Given the description of an element on the screen output the (x, y) to click on. 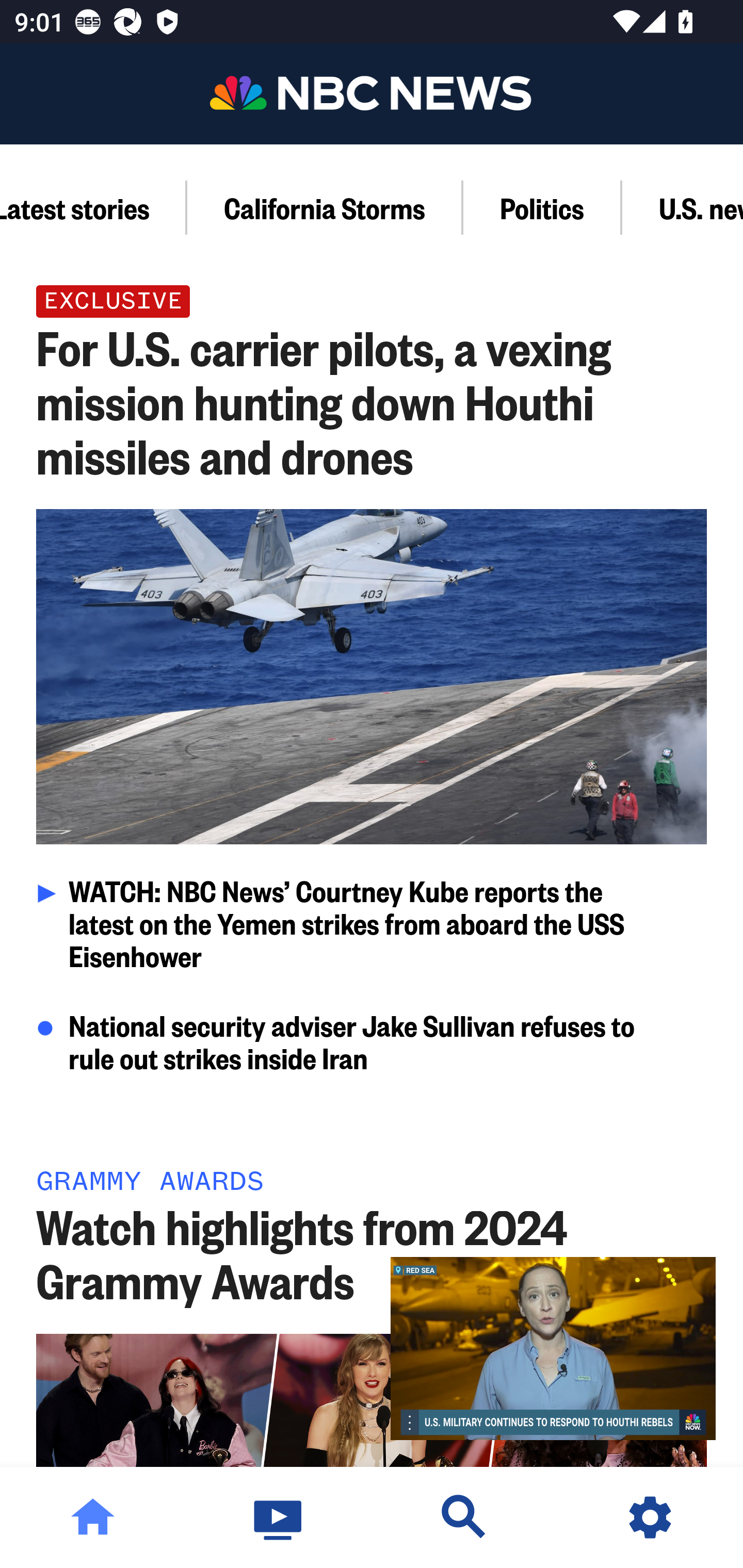
Latest stories Section,Latest stories (93, 207)
California Storms (325, 207)
Politics Section,Politics (542, 207)
U.S. news Section,U.S. news (682, 207)
Watch (278, 1517)
Discover (464, 1517)
Settings (650, 1517)
